Given the description of an element on the screen output the (x, y) to click on. 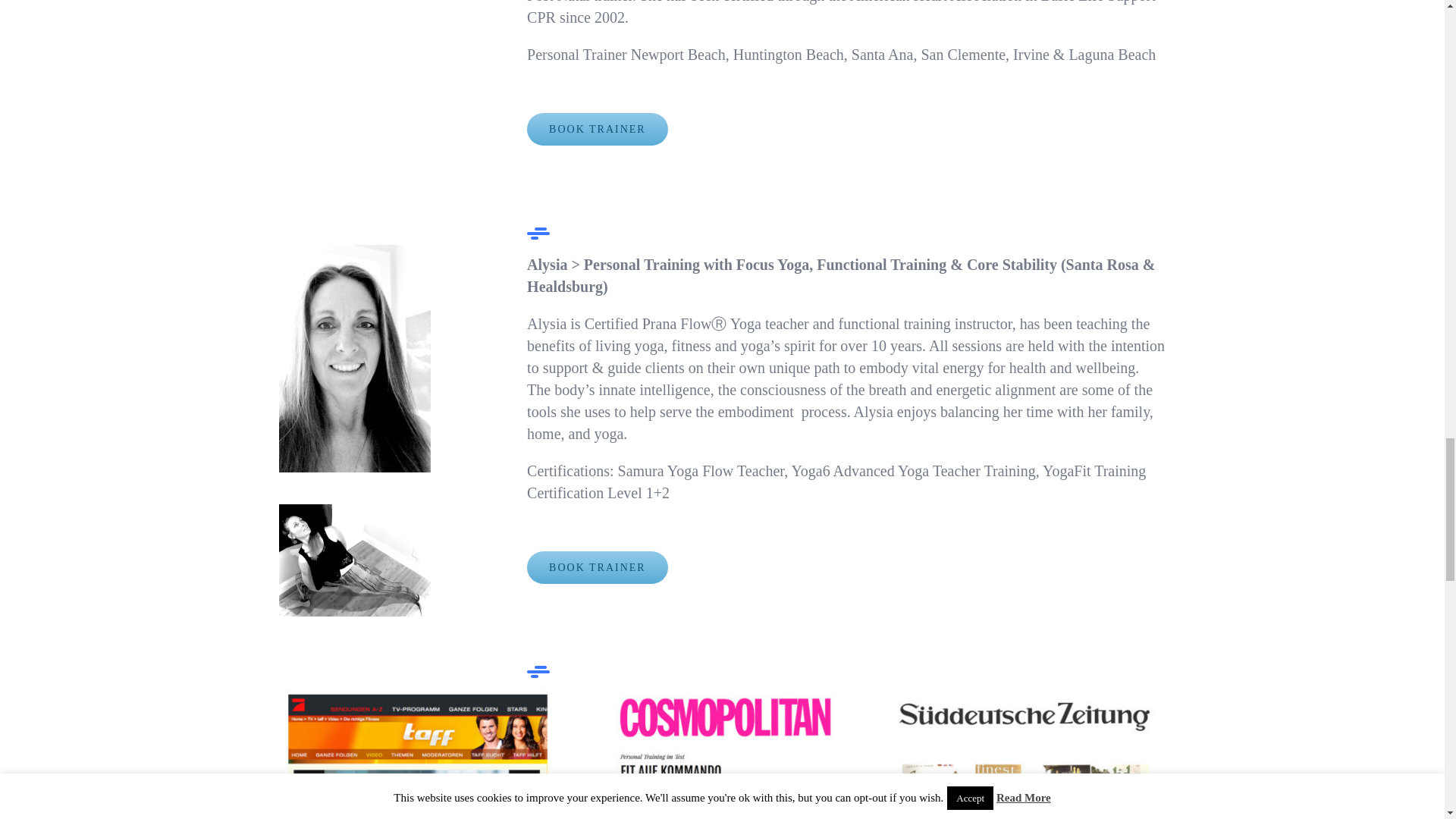
Alysia (354, 358)
Alysia (354, 559)
